Given the description of an element on the screen output the (x, y) to click on. 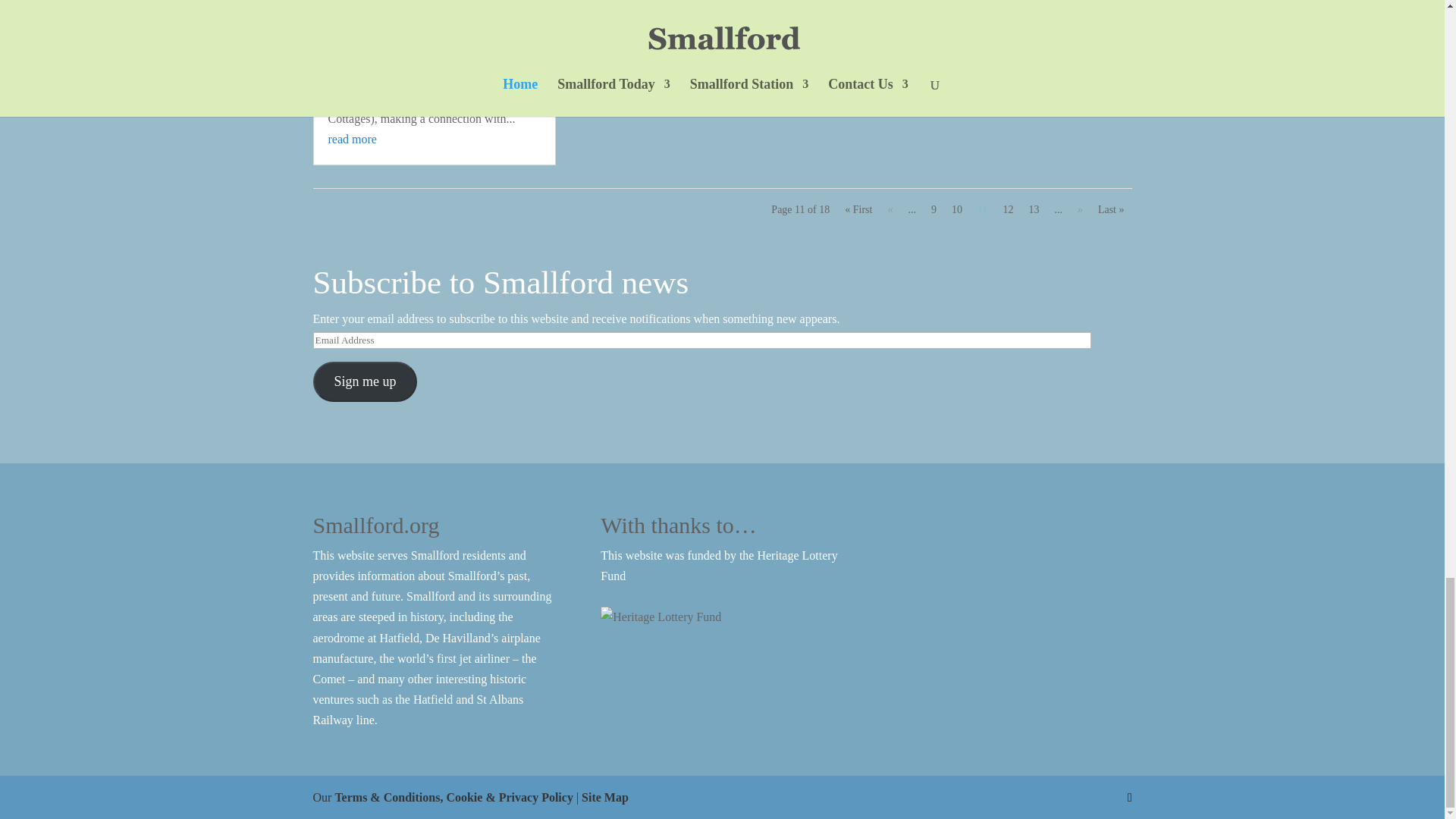
read more (351, 138)
